Given the description of an element on the screen output the (x, y) to click on. 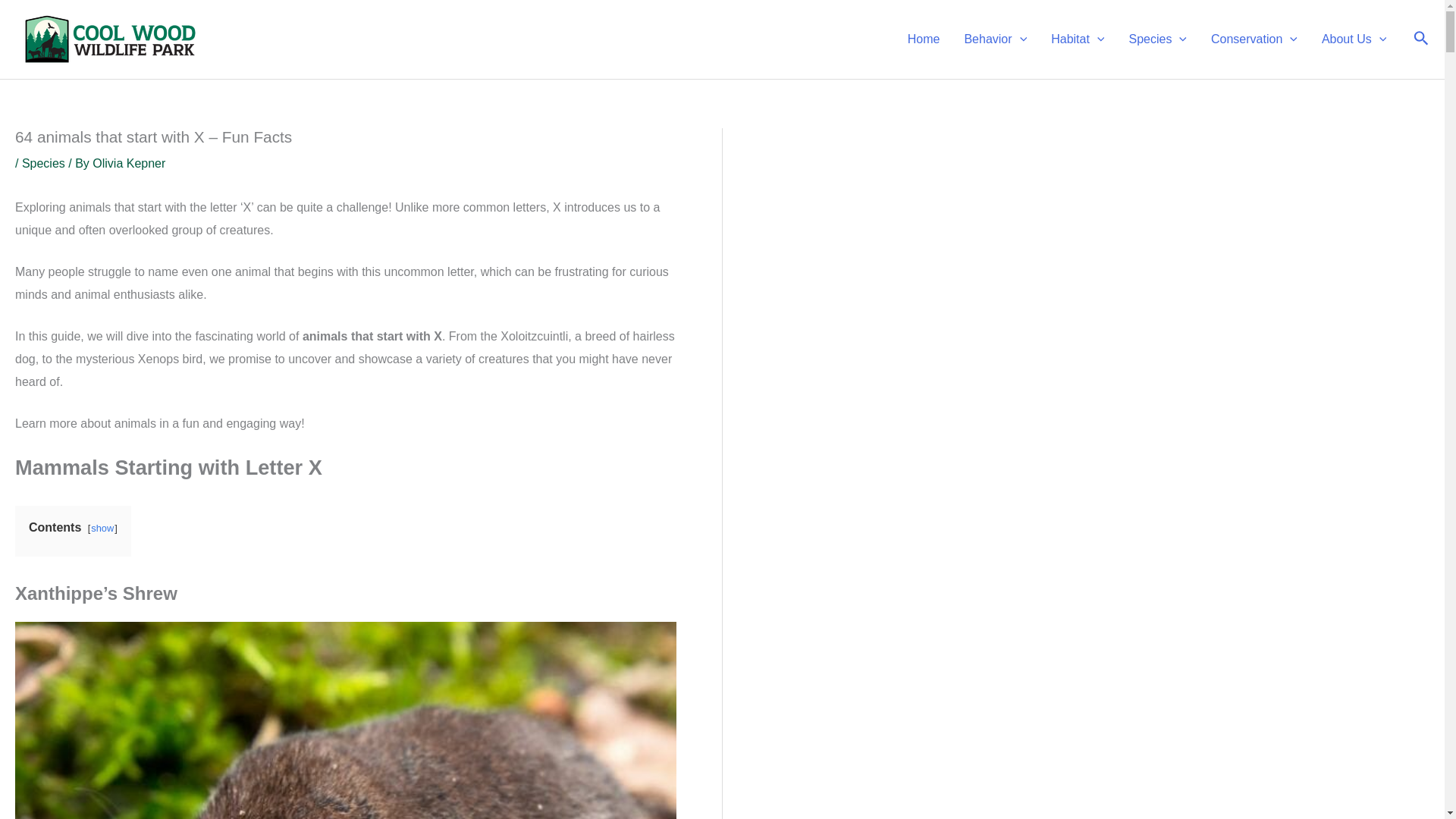
Species (1157, 39)
mole (345, 720)
Home (923, 39)
View all posts by Olivia Kepner (129, 163)
Behavior (995, 39)
Habitat (1077, 39)
